Given the description of an element on the screen output the (x, y) to click on. 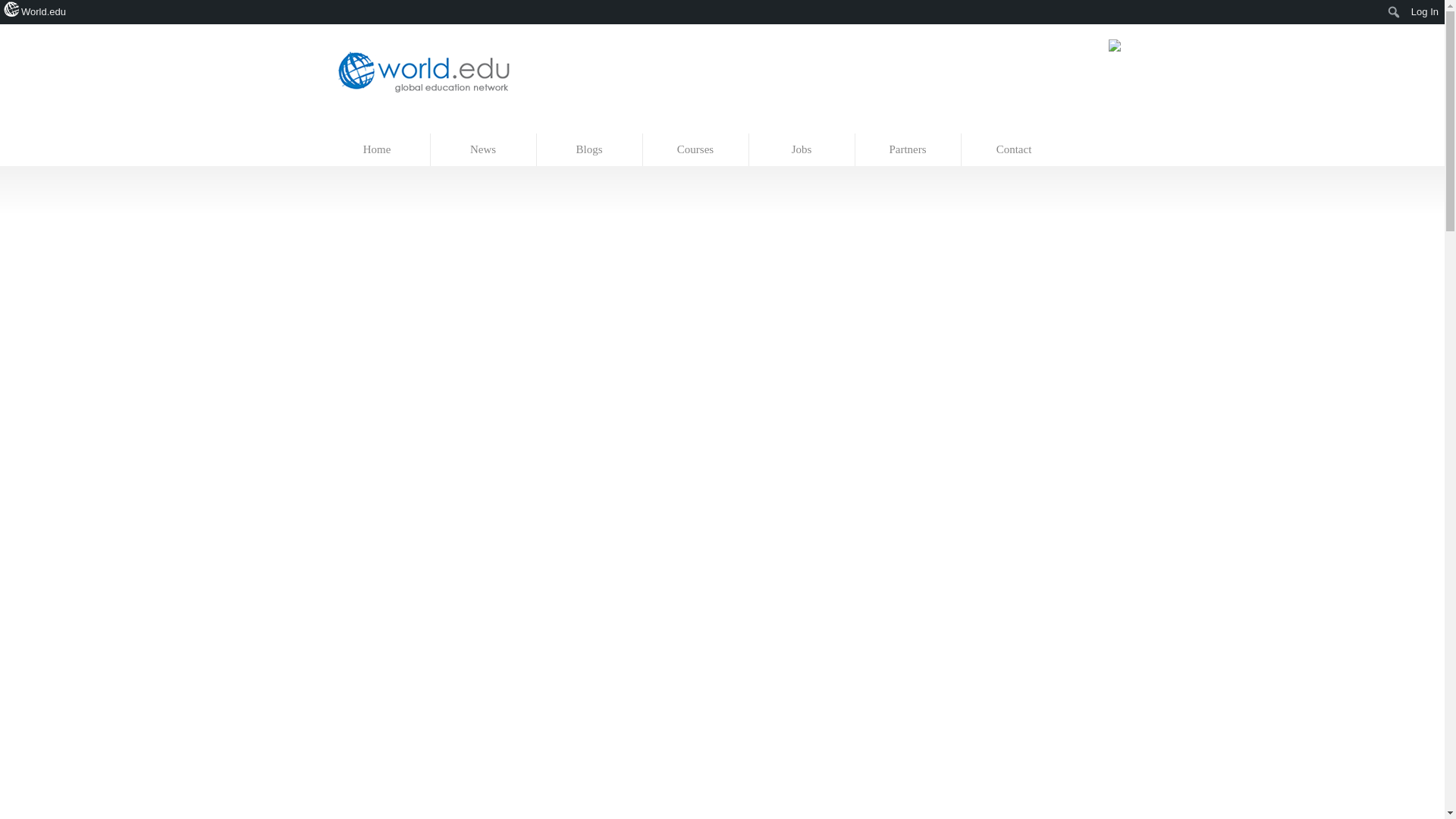
Jobs (802, 149)
Partners (908, 149)
Skip to content (357, 125)
News (483, 149)
Contact (1013, 149)
Courses (696, 149)
Home (377, 149)
Skip to content (357, 125)
Blogs (590, 149)
